Given the description of an element on the screen output the (x, y) to click on. 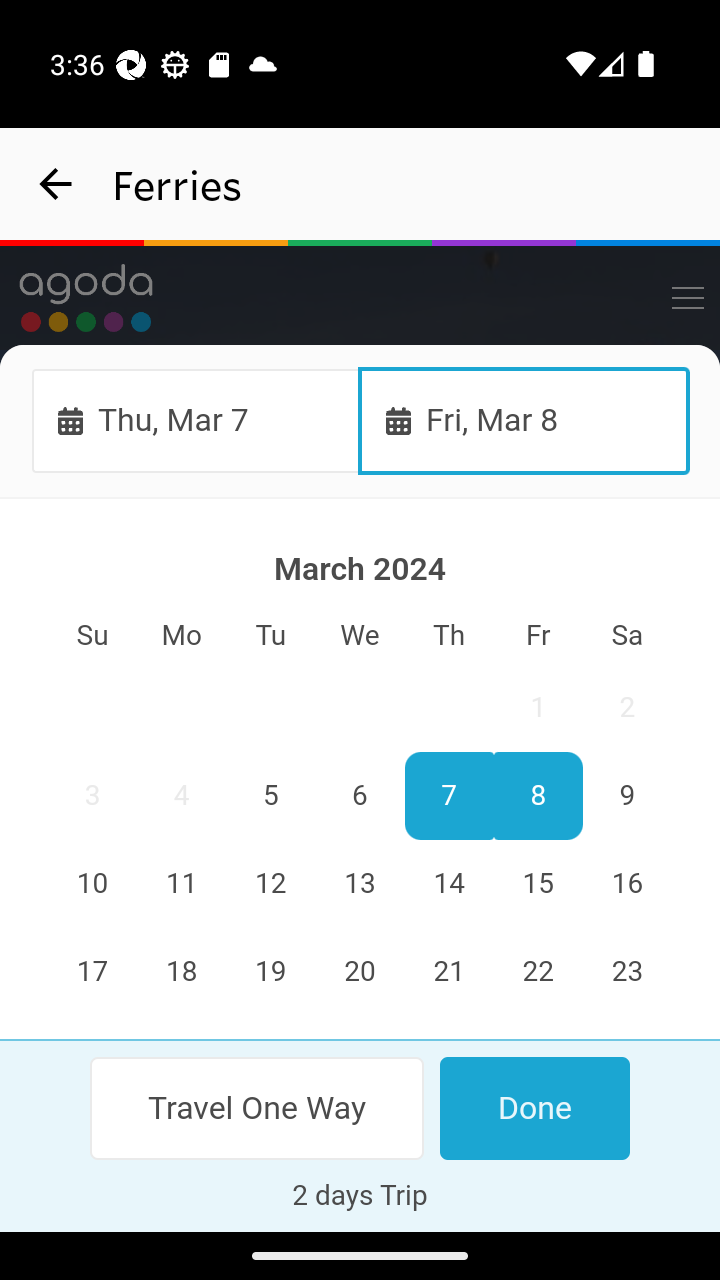
navigation_button (56, 184)
Thu, Mar 7 (195, 420)
Fri, Mar 8 (524, 420)
1 (537, 708)
2 (626, 708)
3 (93, 797)
4 (182, 797)
5 (271, 797)
6 (359, 797)
7 (448, 797)
8 (537, 797)
9 (626, 797)
10 (93, 884)
11 (182, 884)
12 (271, 884)
13 (359, 884)
14 (448, 884)
15 (537, 884)
16 (626, 884)
17 (93, 972)
18 (182, 972)
19 (271, 972)
20 (359, 972)
21 (448, 972)
22 (537, 972)
23 (626, 972)
Travel One Way (258, 1107)
Done (534, 1107)
